Given the description of an element on the screen output the (x, y) to click on. 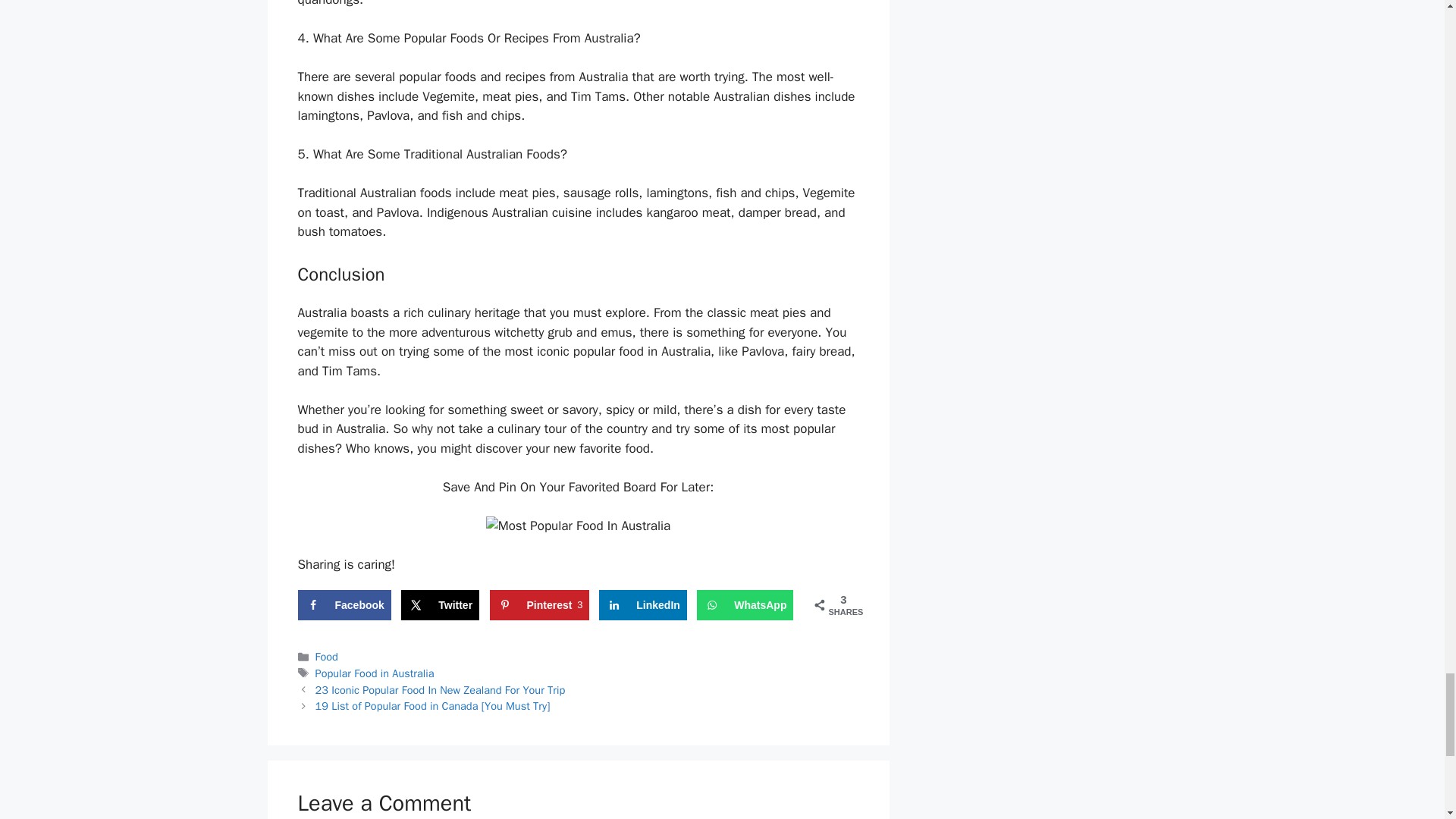
LinkedIn (642, 604)
Share on X (440, 604)
Twitter (440, 604)
Popular Food in Australia (374, 673)
Share on LinkedIn (642, 604)
Food (326, 656)
WhatsApp (745, 604)
23 Iconic Popular Food In New Zealand For Your Trip (440, 689)
Save to Pinterest (539, 604)
